Given the description of an element on the screen output the (x, y) to click on. 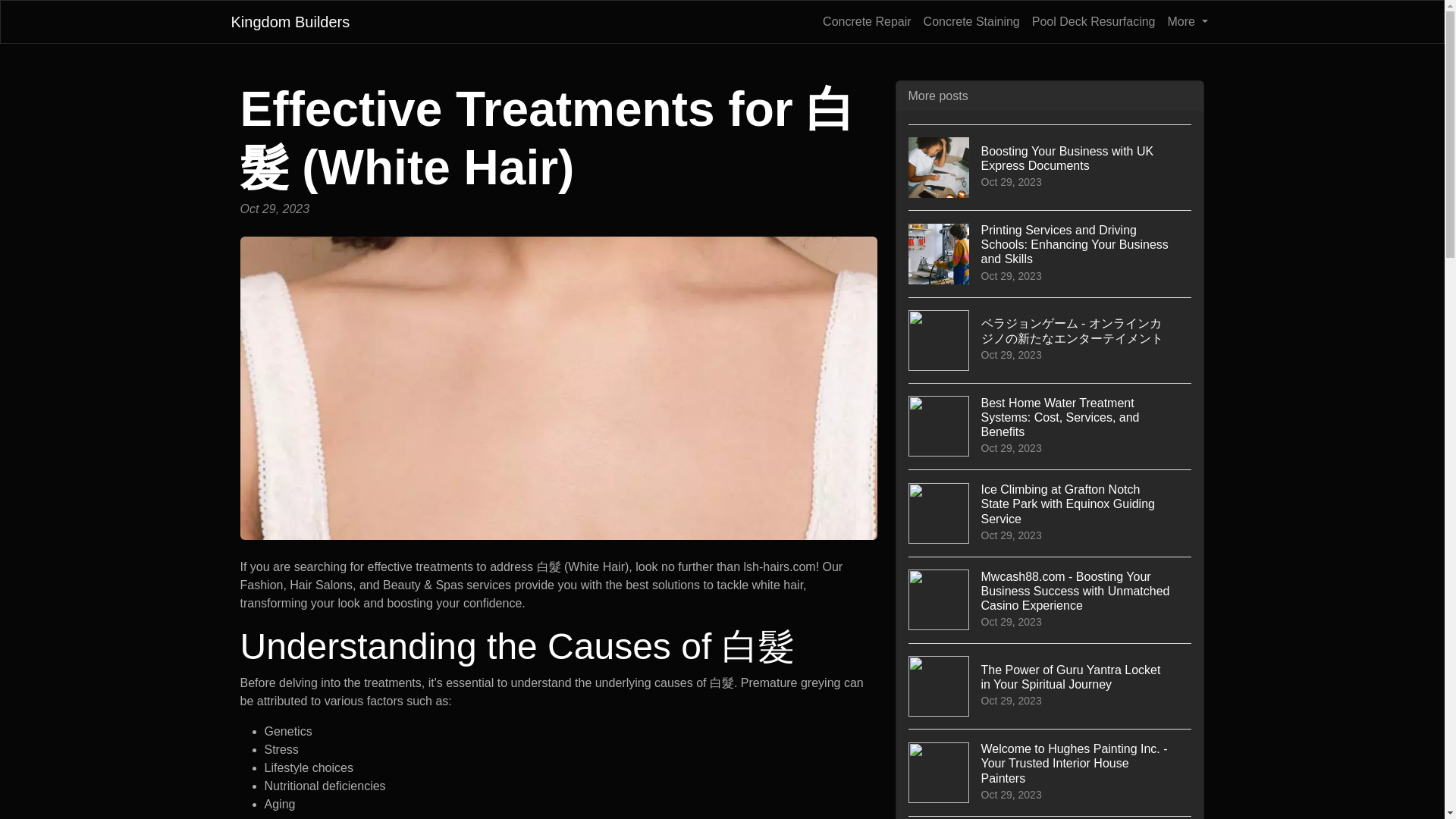
Concrete Staining (971, 21)
Kingdom Builders (289, 21)
Pool Deck Resurfacing (1093, 21)
More (1187, 21)
